Given the description of an element on the screen output the (x, y) to click on. 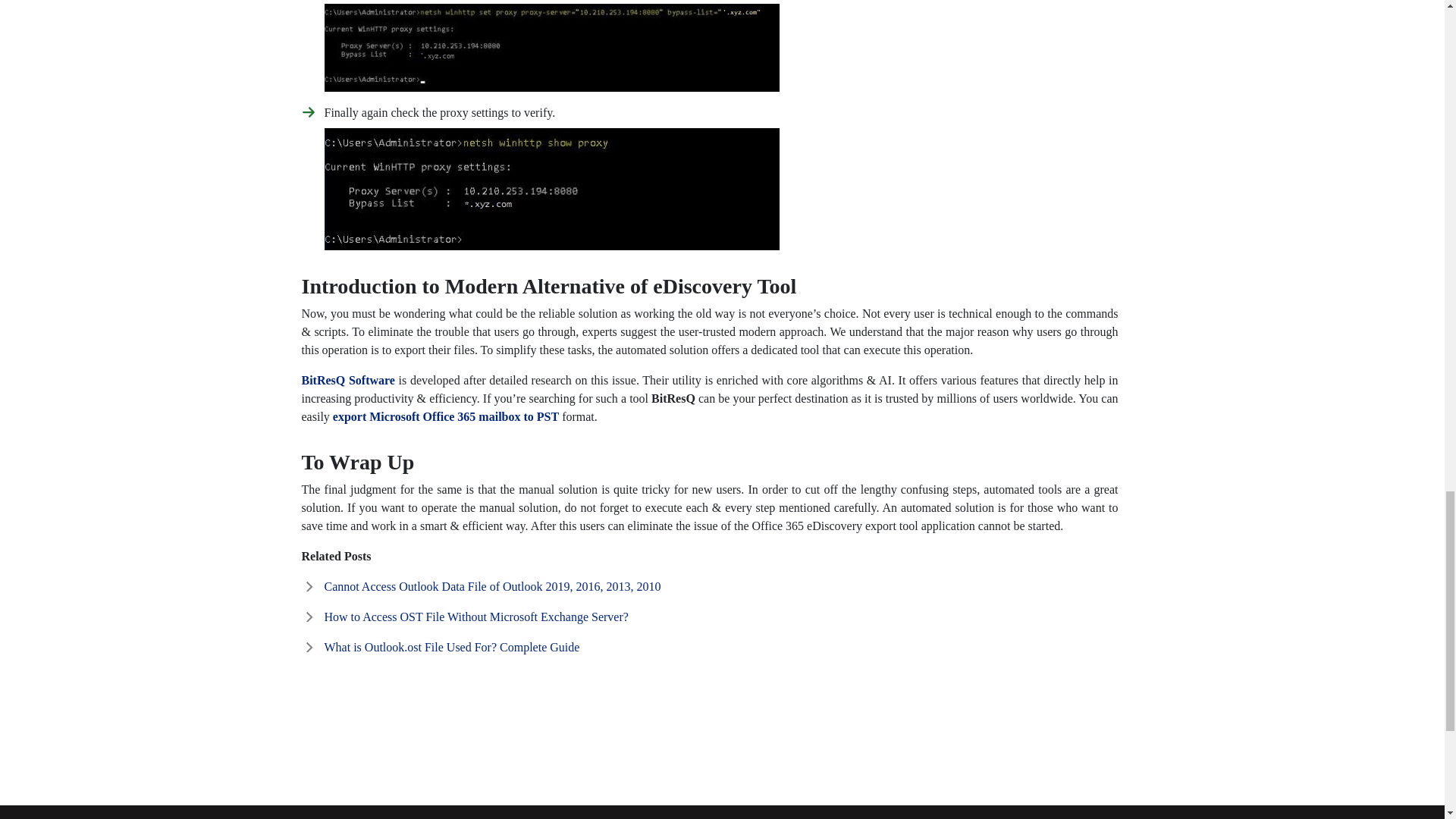
What is Outlook.ost File Used For? Complete Guide (451, 646)
How to Access OST File Without Microsoft Exchange Server? (476, 616)
BitResQ Software (347, 379)
What is Outlook.ost File Used For? Complete Guide (451, 646)
export Microsoft Office 365 mailbox to PST (446, 416)
How to Access OST File Without Microsoft Exchange Server? (476, 616)
